Given the description of an element on the screen output the (x, y) to click on. 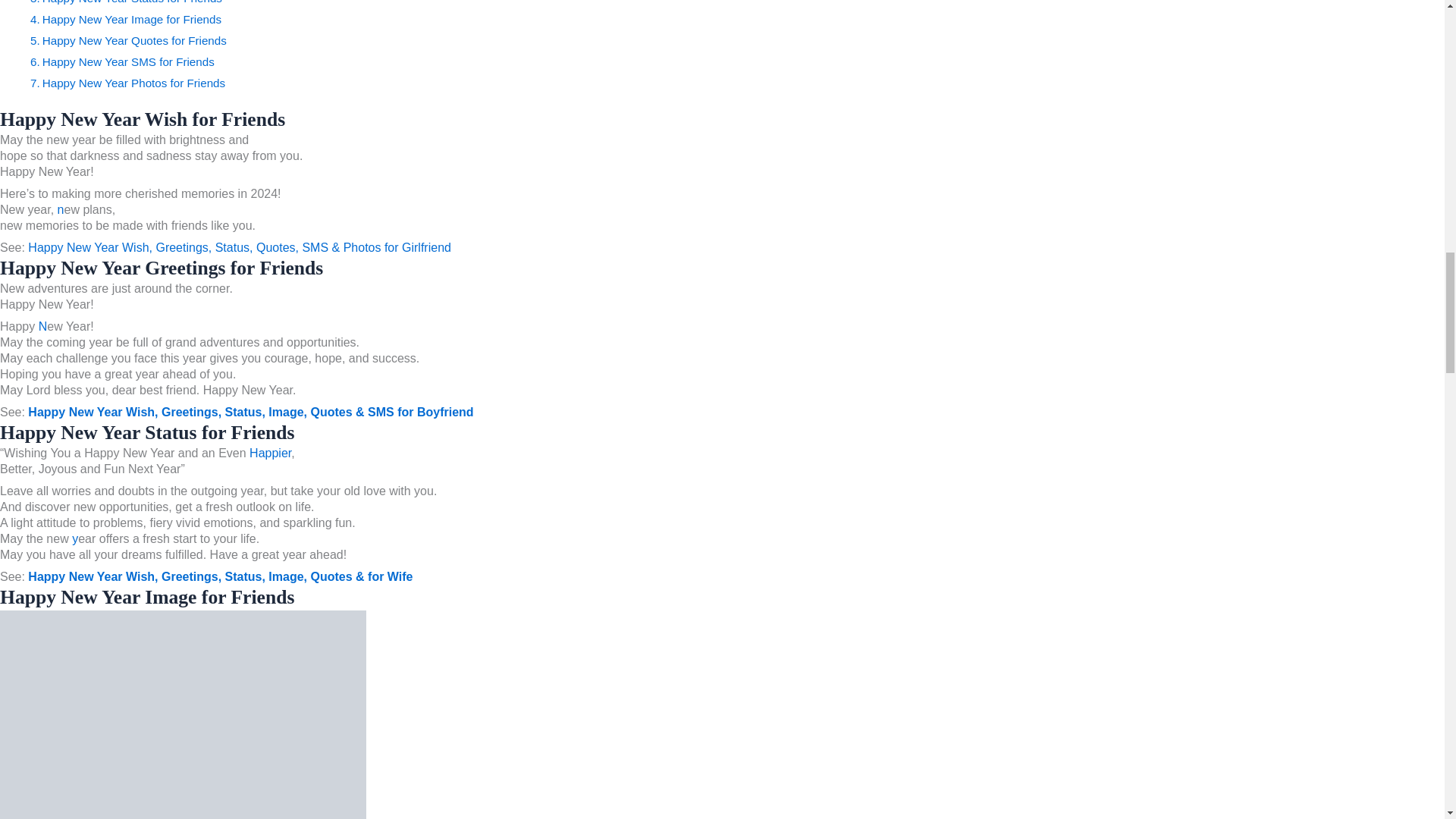
Happy New Year Quotes for Friends (134, 40)
Happy New Year Photos for Friends (133, 82)
Happy New Year SMS for Friends (128, 61)
Happy New Year Photos for Friends (133, 82)
Happy New Year Quotes for Friends (134, 40)
Happy New Year Status for Friends (132, 2)
Happy New Year Image for Friends (131, 19)
Happy New Year SMS for Friends (128, 61)
Happy New Year Image for Friends (131, 19)
Happier (269, 452)
